Given the description of an element on the screen output the (x, y) to click on. 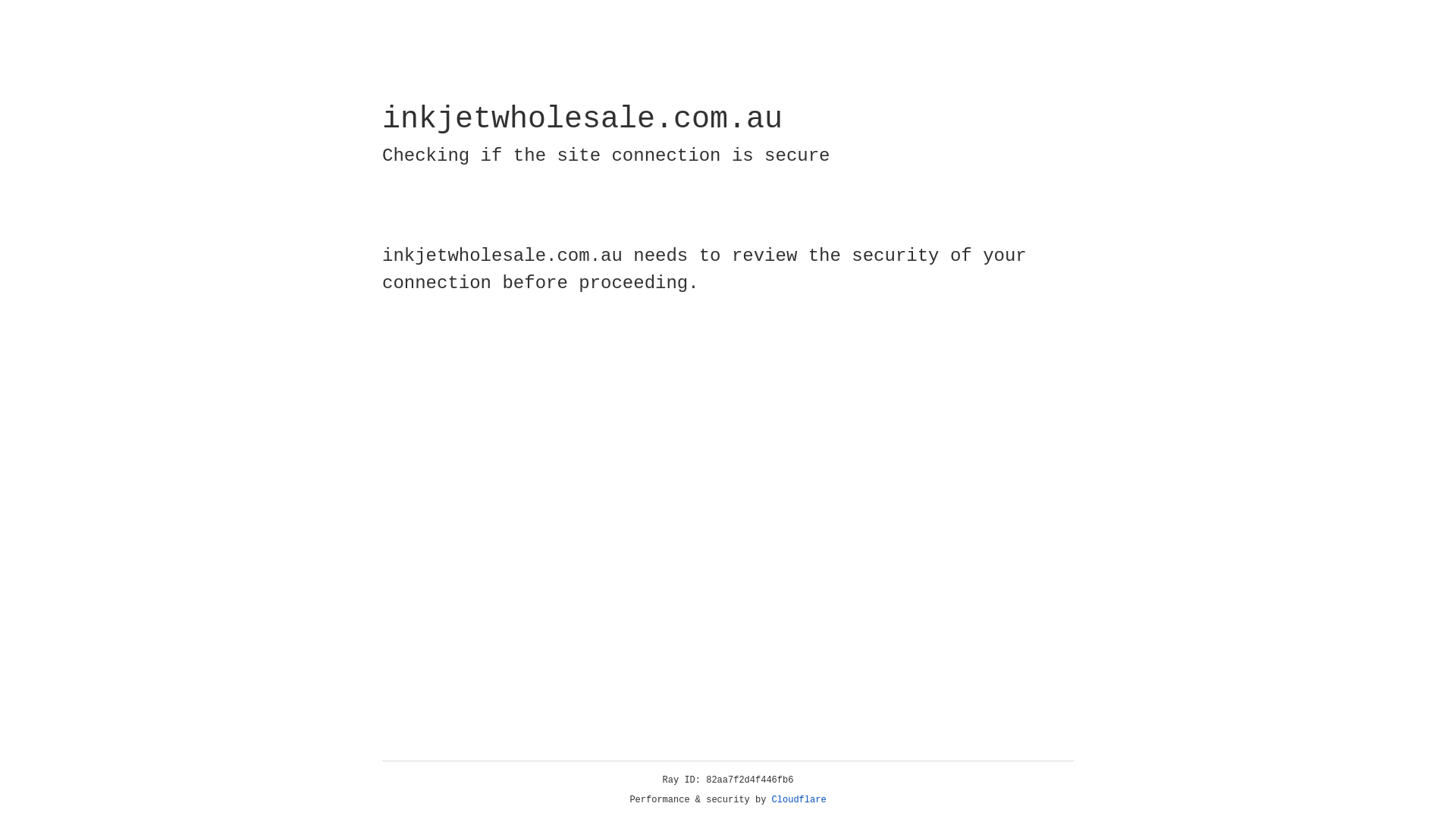
Cloudflare Element type: text (798, 799)
